Given the description of an element on the screen output the (x, y) to click on. 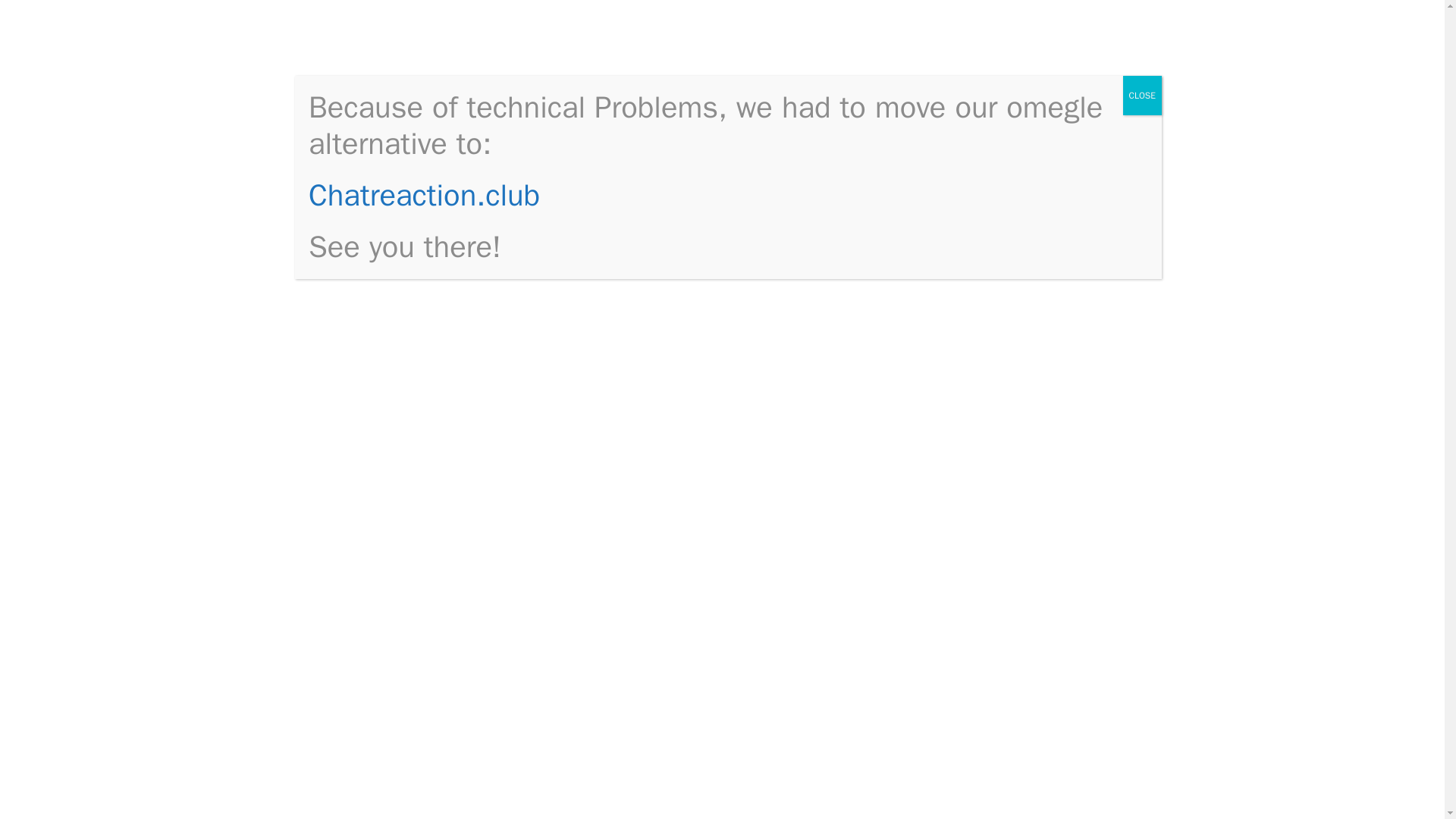
Sexist (823, 679)
sites like cam 4 (423, 50)
17.05.2010 (364, 213)
Hispanic granny omegle group skype (1028, 228)
Free pic girls (996, 330)
Chat rooms cams (1010, 308)
18 chatroulette solo ass (1030, 261)
13:26 (364, 213)
hunt (853, 295)
